Given the description of an element on the screen output the (x, y) to click on. 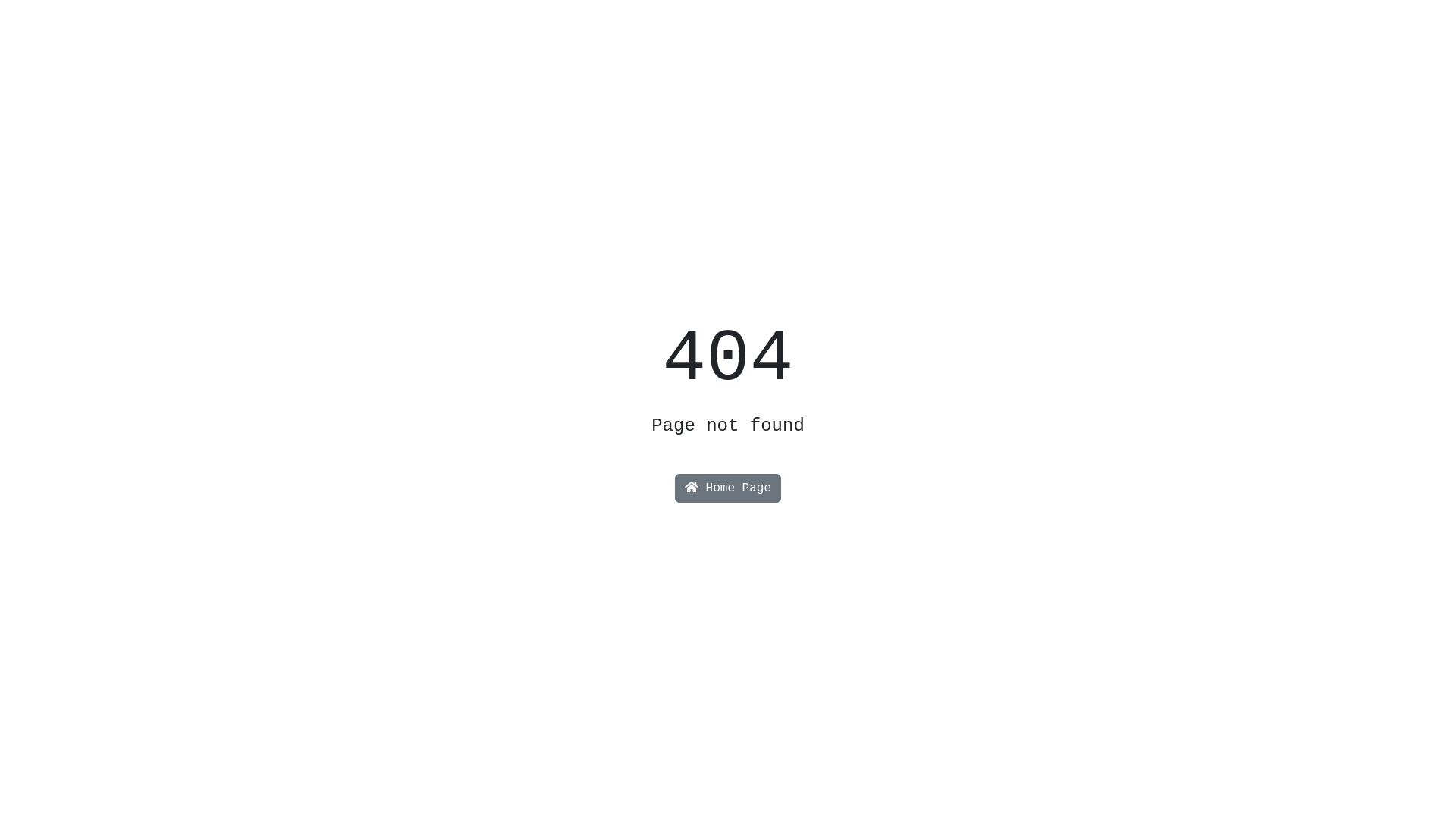
Home Page Element type: text (727, 487)
